Given the description of an element on the screen output the (x, y) to click on. 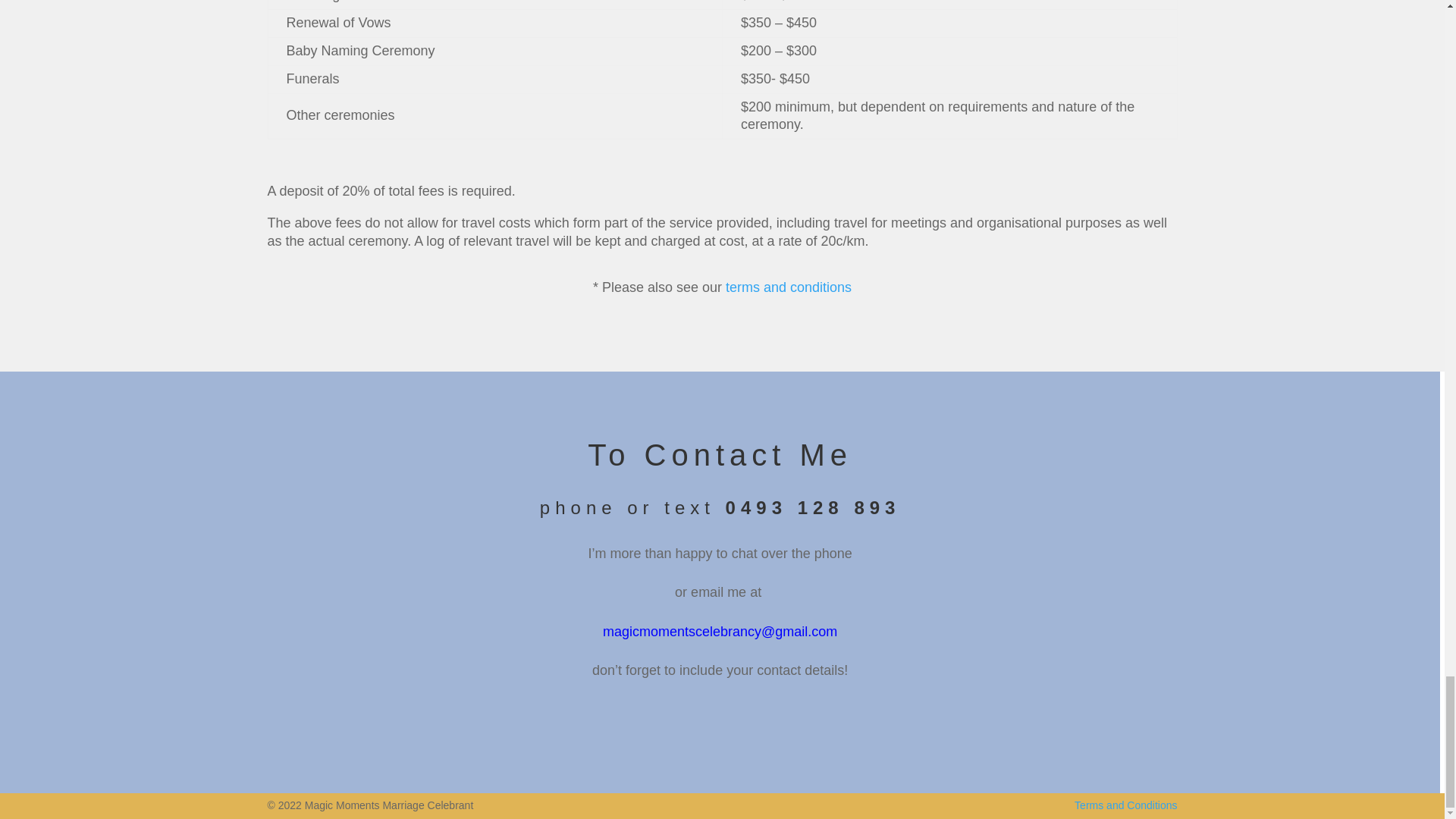
Terms and Conditions (1125, 805)
terms and conditions (788, 287)
Terms and Conditions (1125, 805)
